Given the description of an element on the screen output the (x, y) to click on. 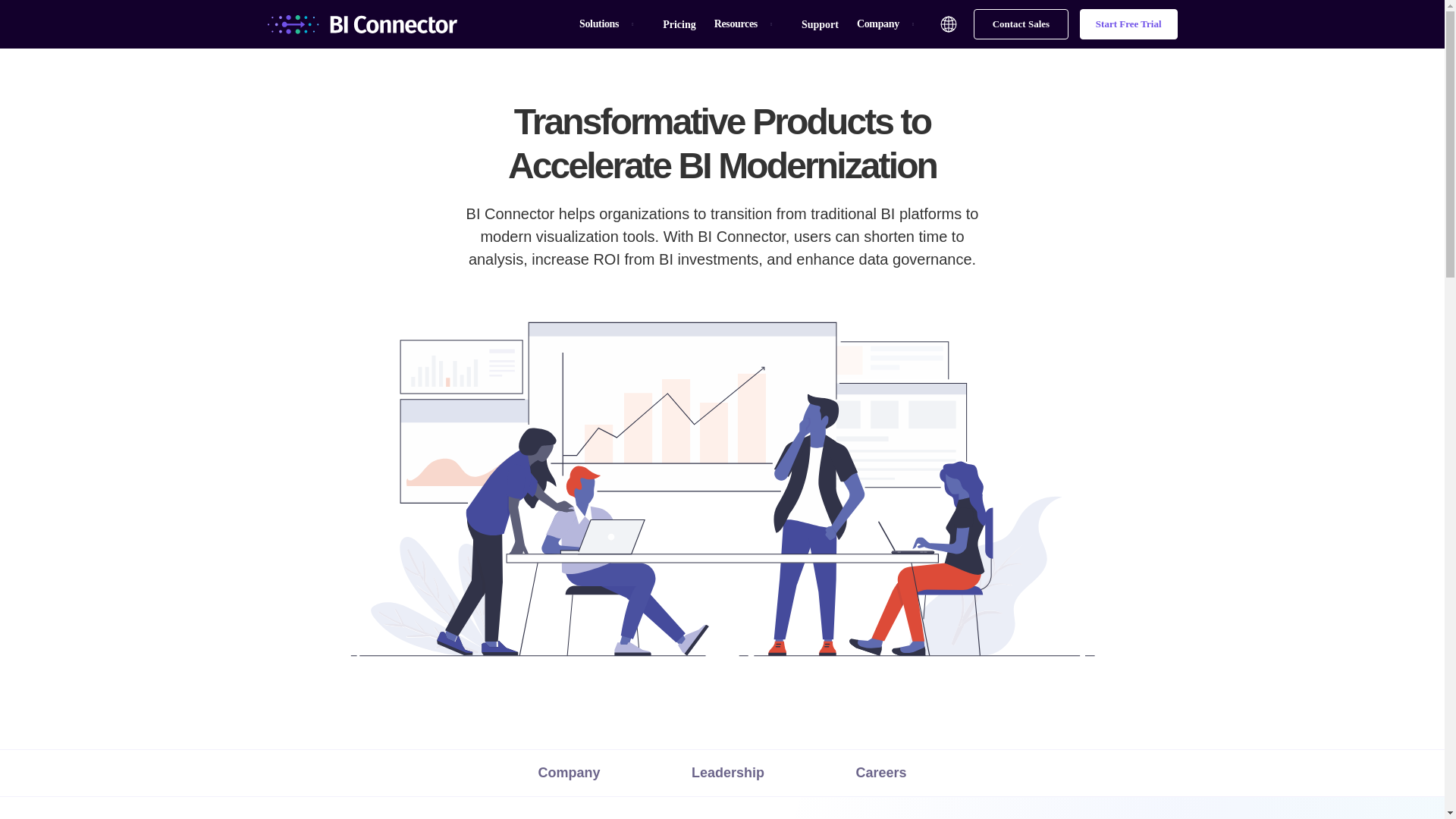
Resources (735, 23)
Start Free Trial (1128, 24)
Pricing (678, 24)
Support (820, 24)
Careers (880, 772)
Leadership (727, 772)
Company (568, 772)
Contact Sales (1021, 24)
